Given the description of an element on the screen output the (x, y) to click on. 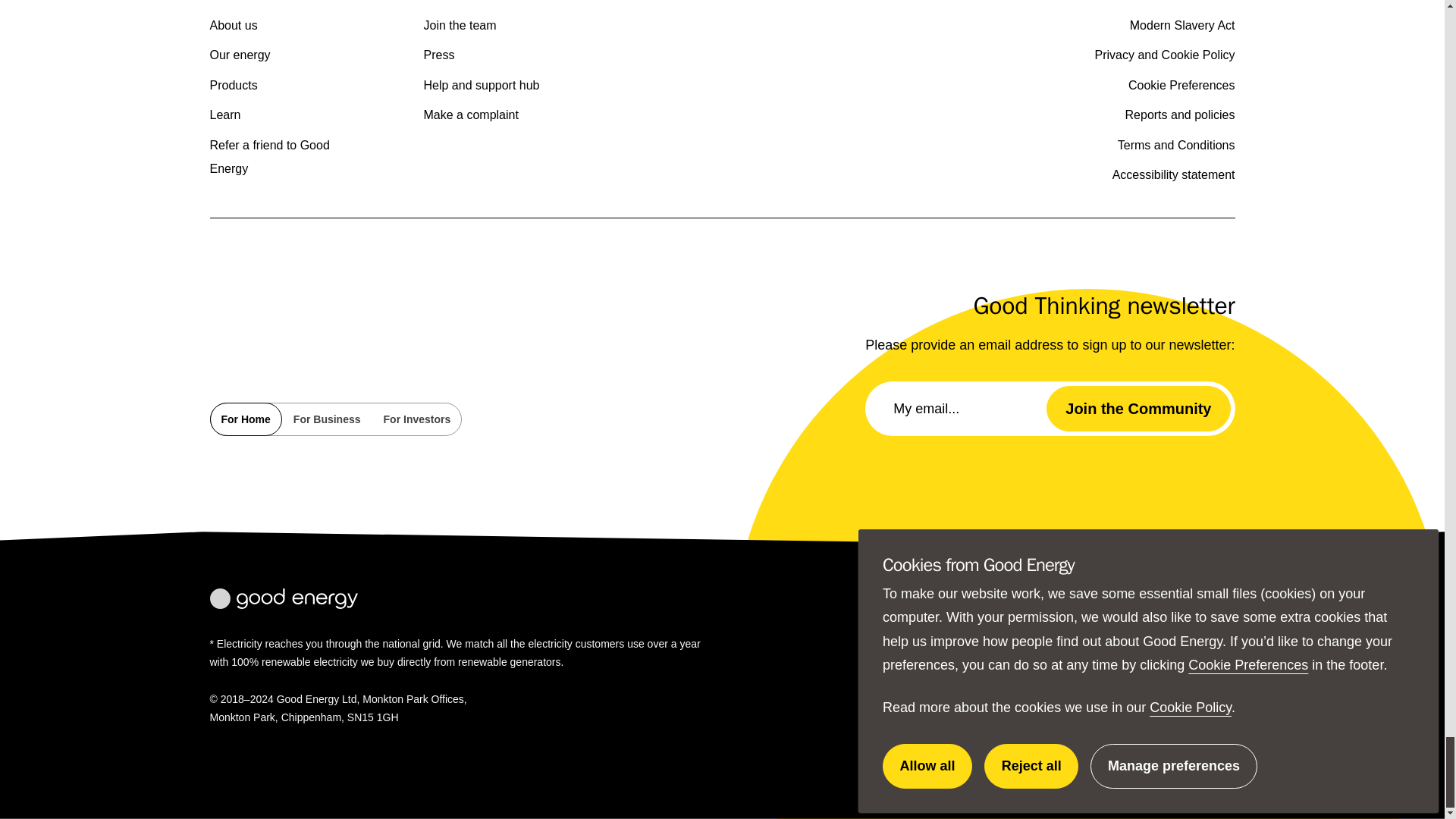
Our energy (239, 54)
About us (233, 24)
Learn (224, 114)
Products (233, 84)
